Given the description of an element on the screen output the (x, y) to click on. 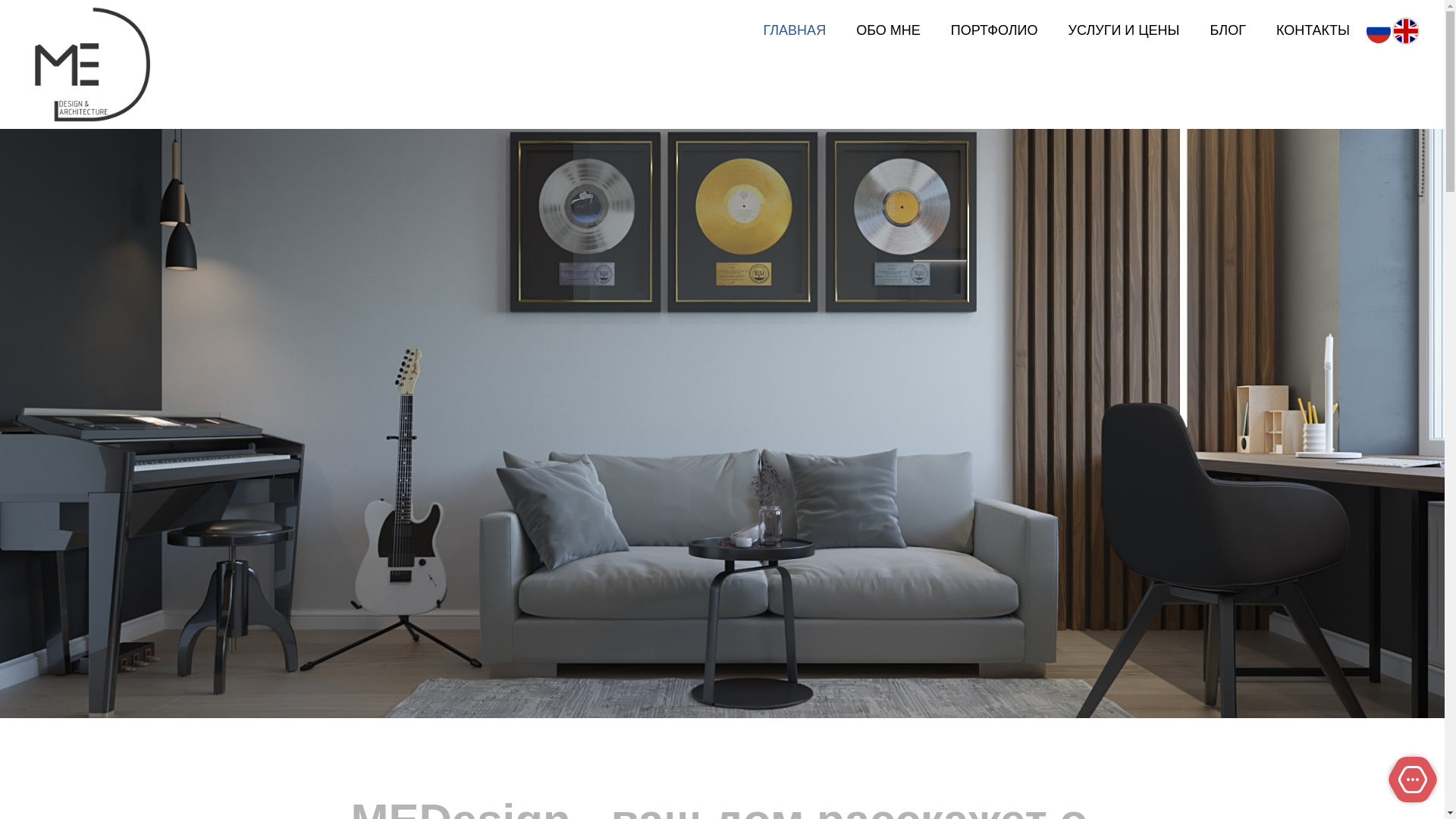
English Element type: hover (1405, 30)
